Given the description of an element on the screen output the (x, y) to click on. 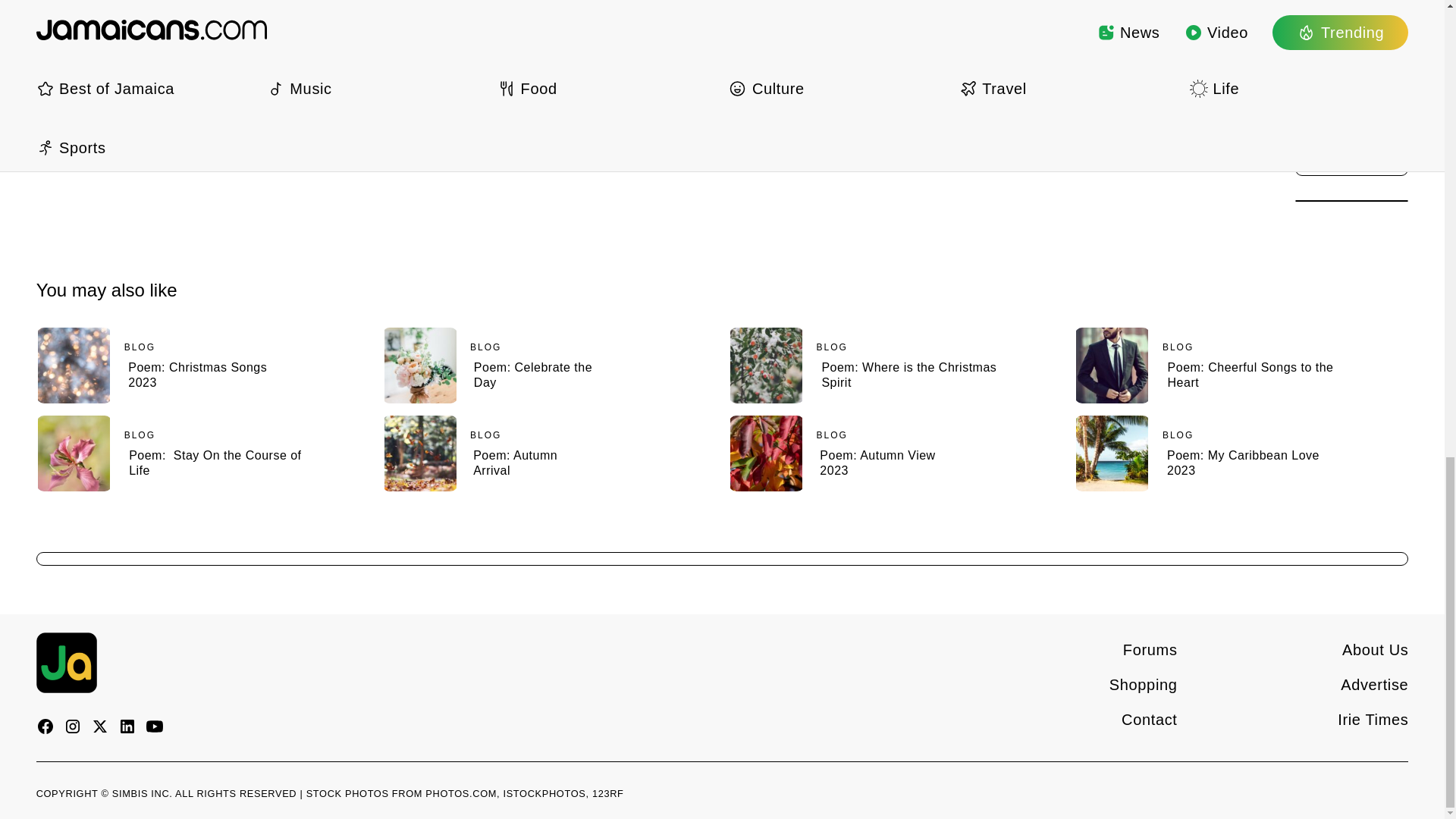
Click for more on the VA scandal (131, 56)
Click for an analysis of the problem. (141, 87)
